Given the description of an element on the screen output the (x, y) to click on. 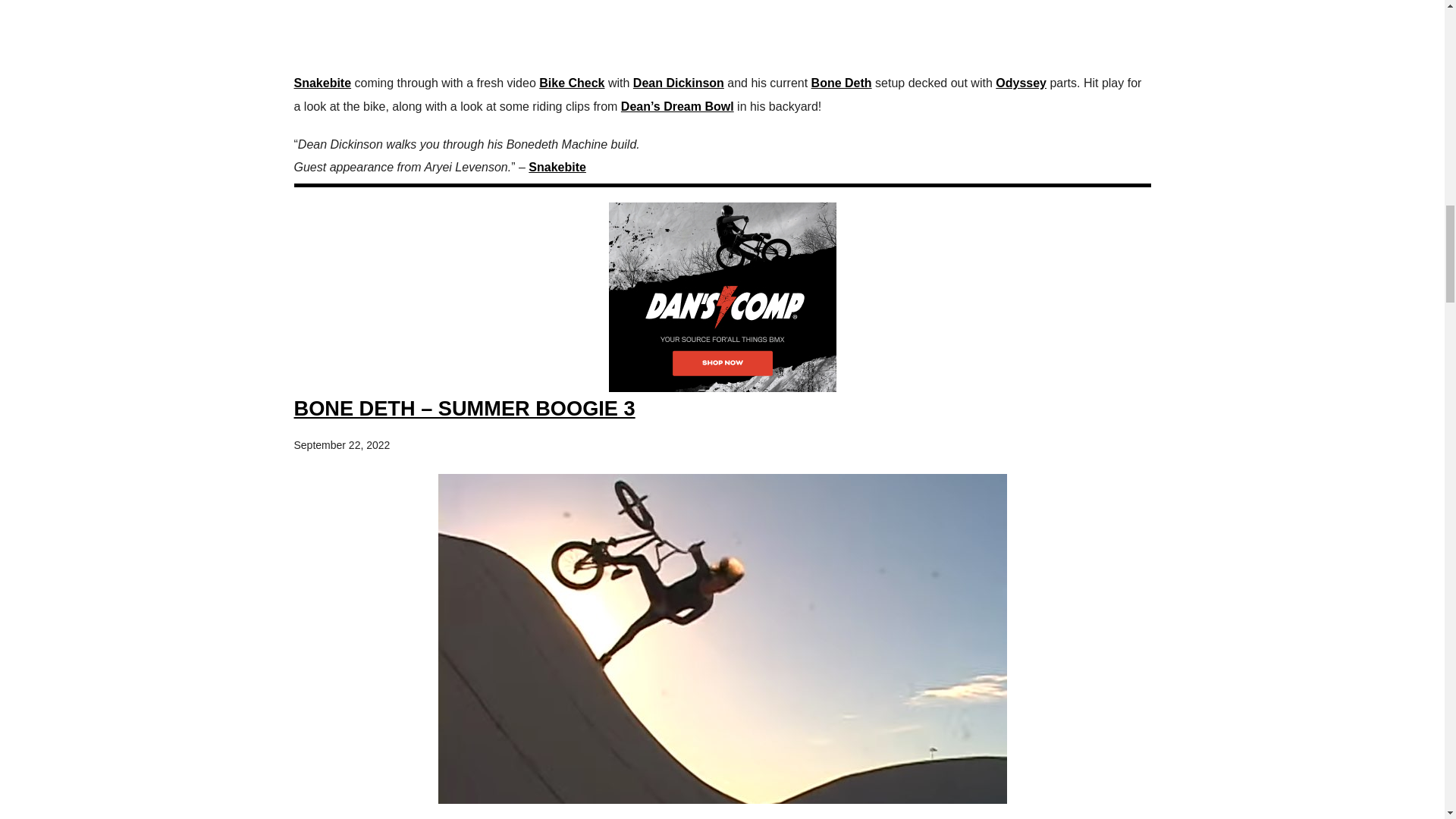
Dean Dickinson's Pool Popping Bonedeth Machine Bike Check (722, 28)
Bike Check (571, 82)
Snakebite (323, 82)
